Given the description of an element on the screen output the (x, y) to click on. 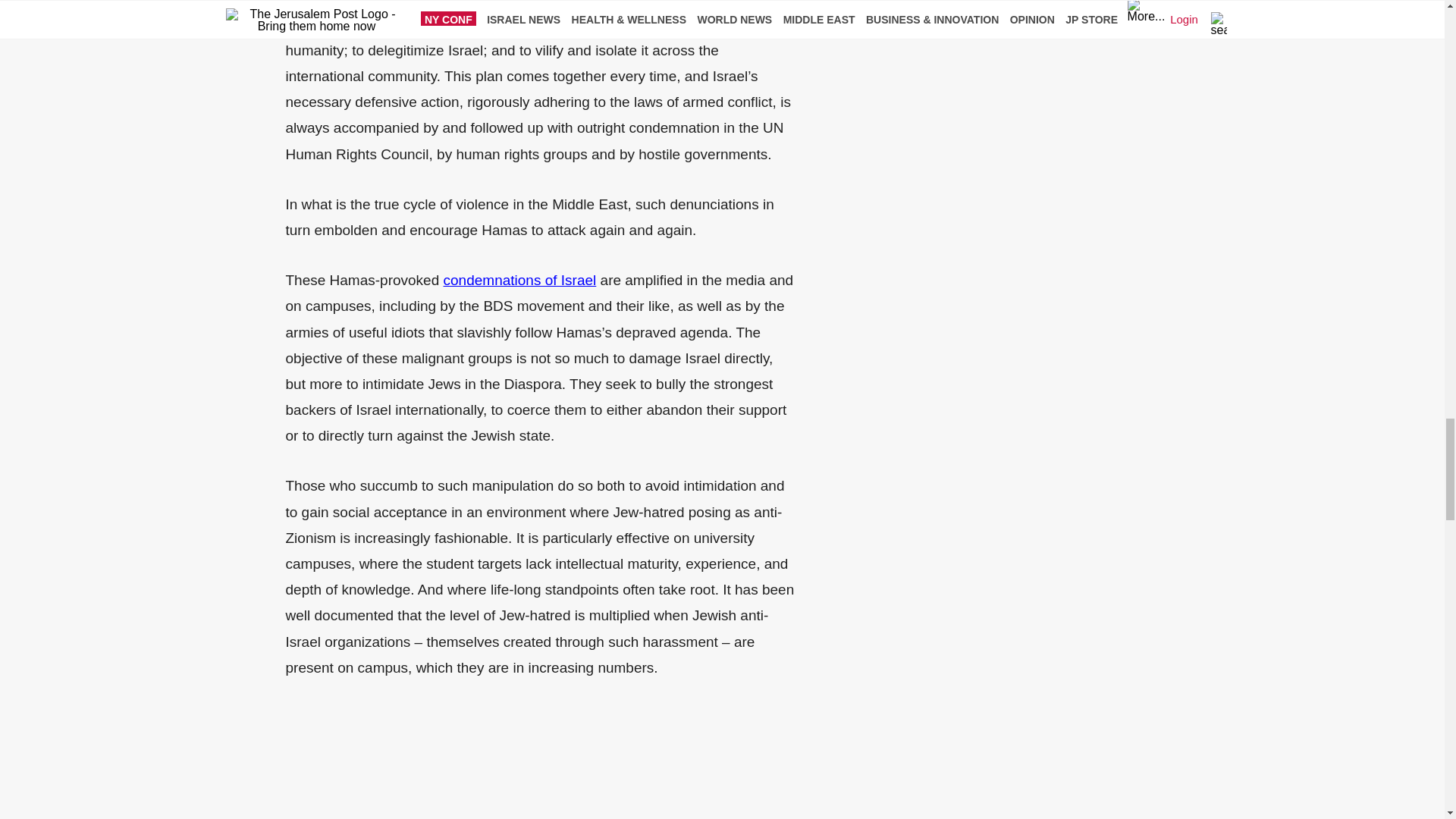
Gazan civilian deaths (536, 2)
condemnations of Israel (520, 279)
